Given the description of an element on the screen output the (x, y) to click on. 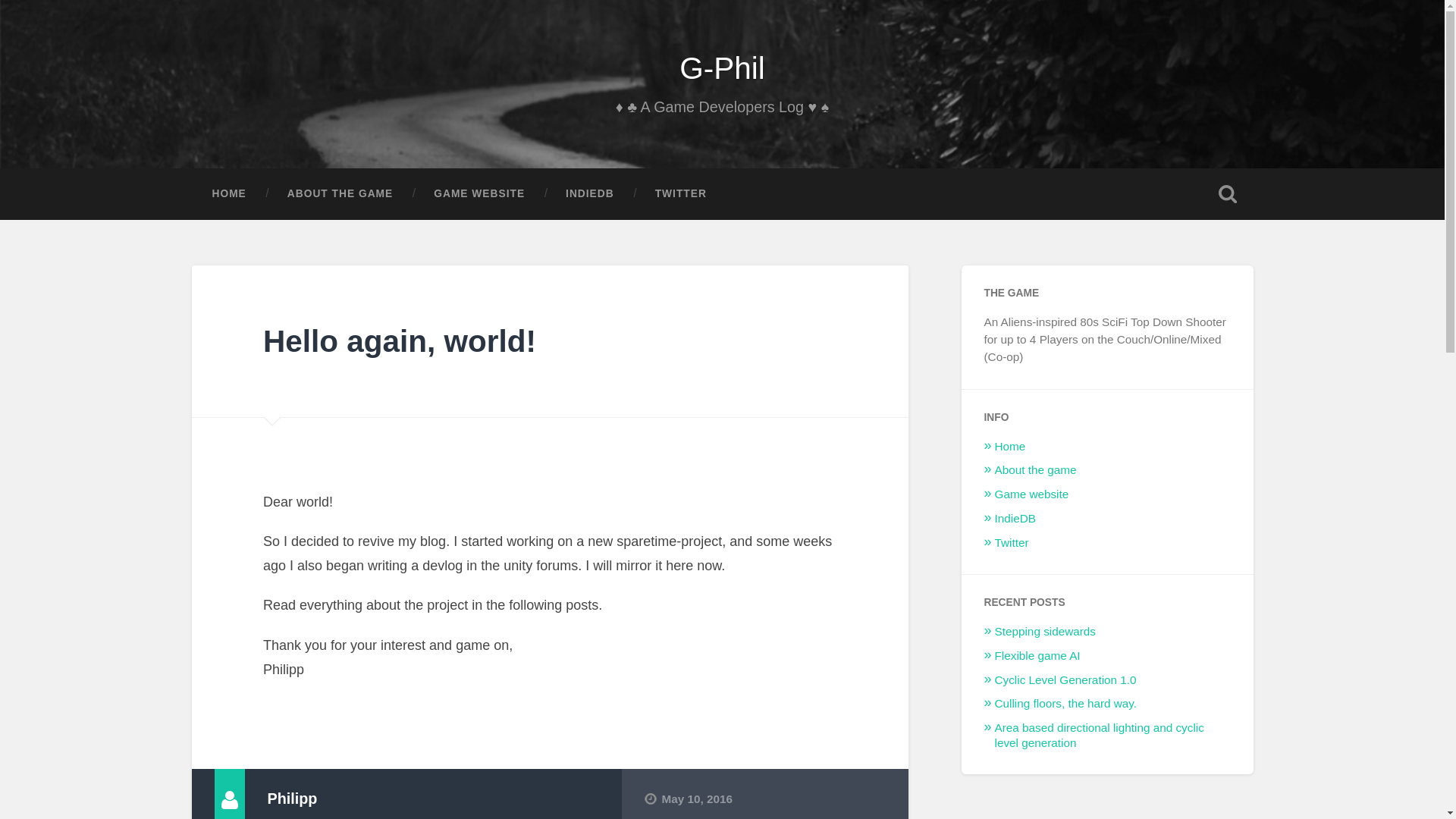
About (677, 817)
Hello again, world! (399, 340)
About the game (1035, 469)
HOME (228, 194)
Flexible game AI (1037, 655)
Game website (1031, 493)
Cyclic Level Generation 1.0 (1065, 679)
ABOUT THE GAME (339, 194)
Culling floors, the hard way. (1065, 703)
Area based directional lighting and cyclic level generation (1099, 735)
TWITTER (680, 194)
G-Phil (722, 67)
IndieDB (1014, 517)
INDIEDB (589, 194)
Home (1010, 445)
